Given the description of an element on the screen output the (x, y) to click on. 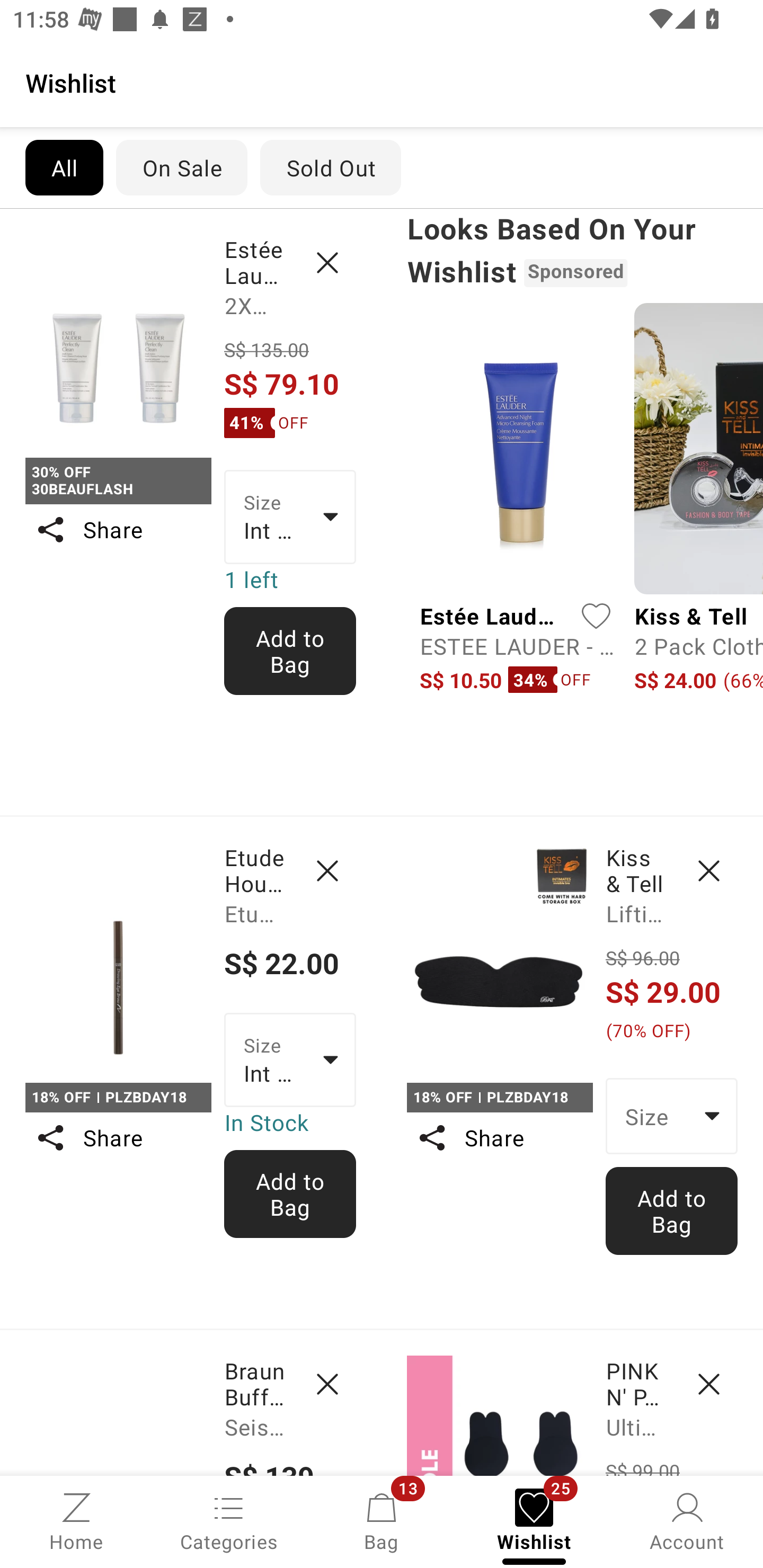
Wishlist (381, 82)
All (64, 167)
On Sale (181, 167)
Sold Out (330, 167)
Size Int One Size (290, 517)
Share (118, 529)
Add to Bag (290, 650)
Size Int One Size (290, 1059)
Size (671, 1116)
Share (118, 1137)
Share (499, 1137)
Add to Bag (290, 1193)
Add to Bag (671, 1210)
Home (76, 1519)
Categories (228, 1519)
Bag, 13 new notifications Bag (381, 1519)
Account (686, 1519)
